Given the description of an element on the screen output the (x, y) to click on. 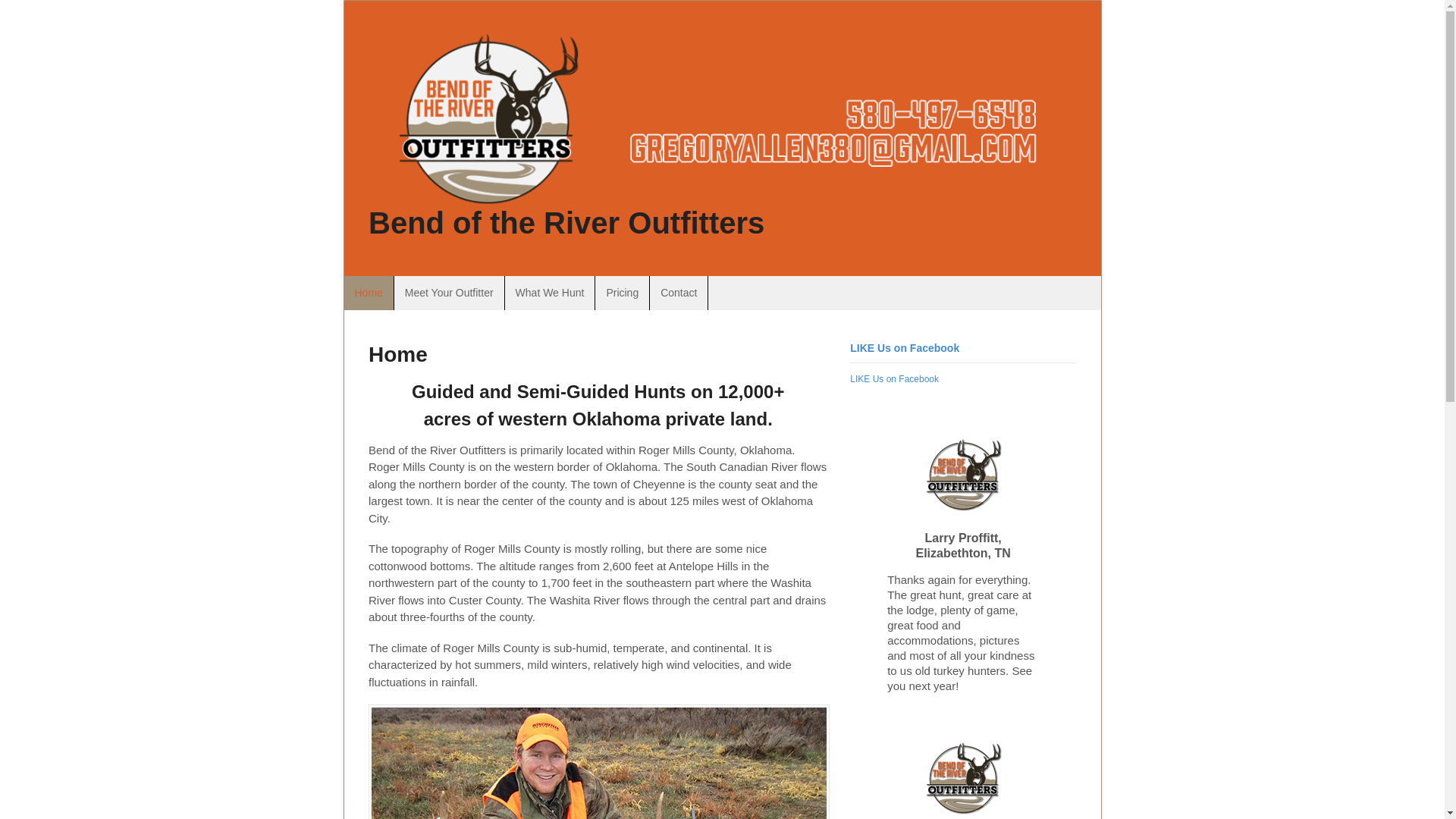
What We Hunt (550, 293)
Bend of the River Outfitters (566, 222)
LIKE Us on Facebook (894, 378)
Home (368, 293)
Contact (678, 293)
Meet Your Outfitter (448, 293)
Pricing (622, 293)
LIKE Us on Facebook (904, 347)
